Given the description of an element on the screen output the (x, y) to click on. 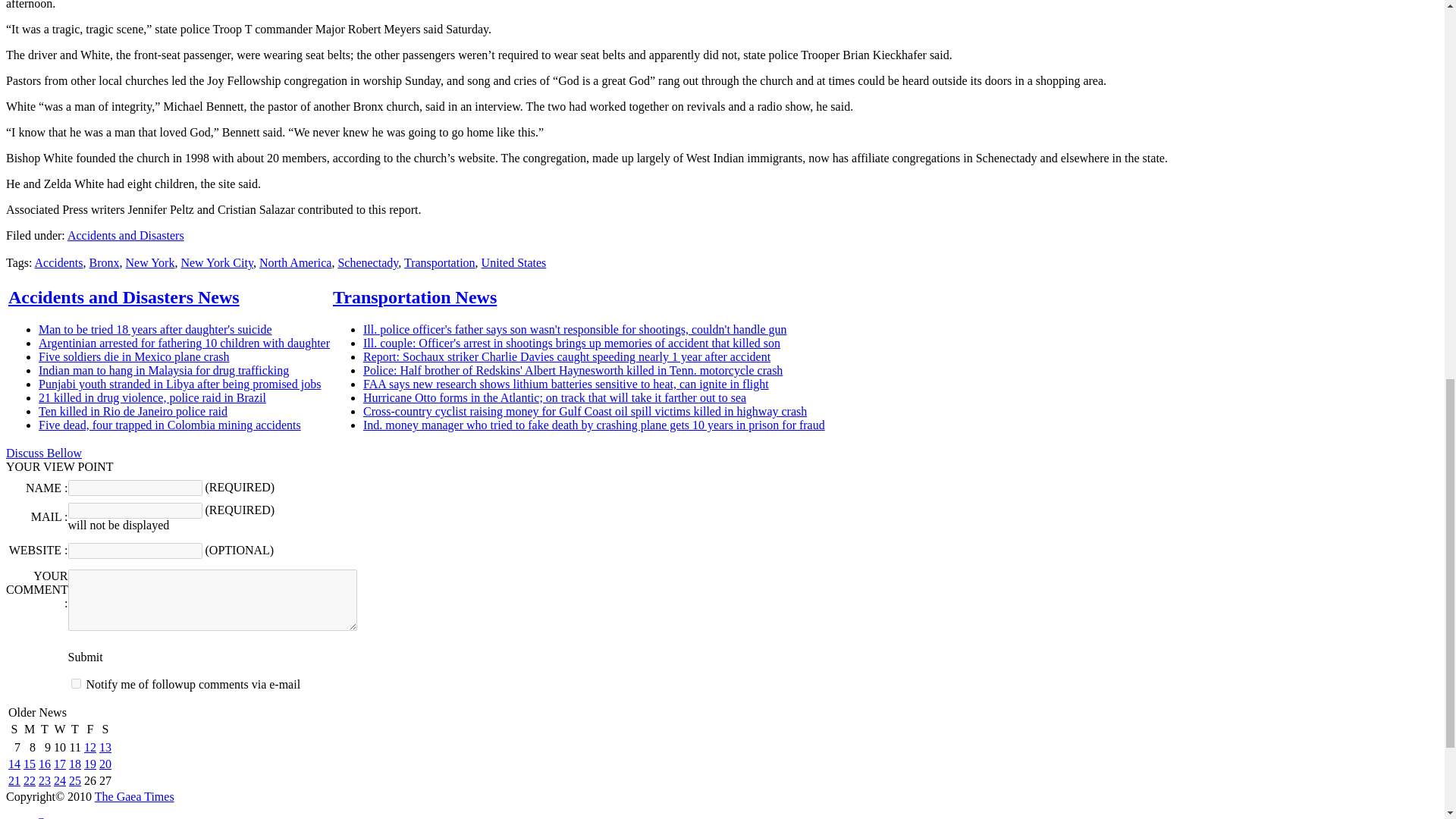
Transportation (440, 262)
Accidents and Disasters (125, 235)
Accidents (58, 262)
subscribe (76, 683)
North America (295, 262)
Bronx (103, 262)
New York City (215, 262)
New York (149, 262)
Schenectady (367, 262)
